Given the description of an element on the screen output the (x, y) to click on. 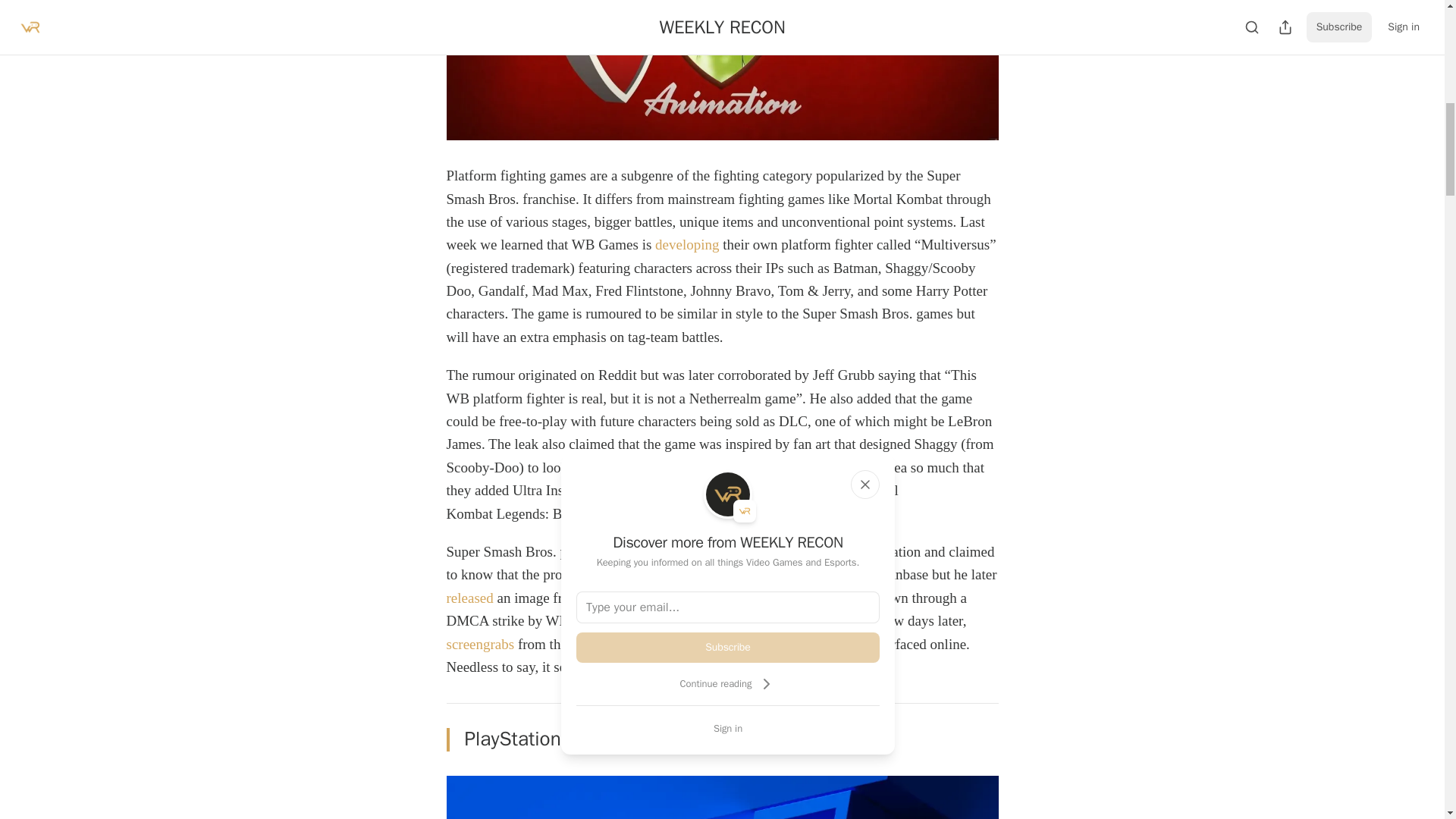
Sign in (727, 727)
developing (687, 244)
screengrabs (479, 643)
Subscribe (727, 647)
opening animation (729, 489)
released (469, 597)
